Given the description of an element on the screen output the (x, y) to click on. 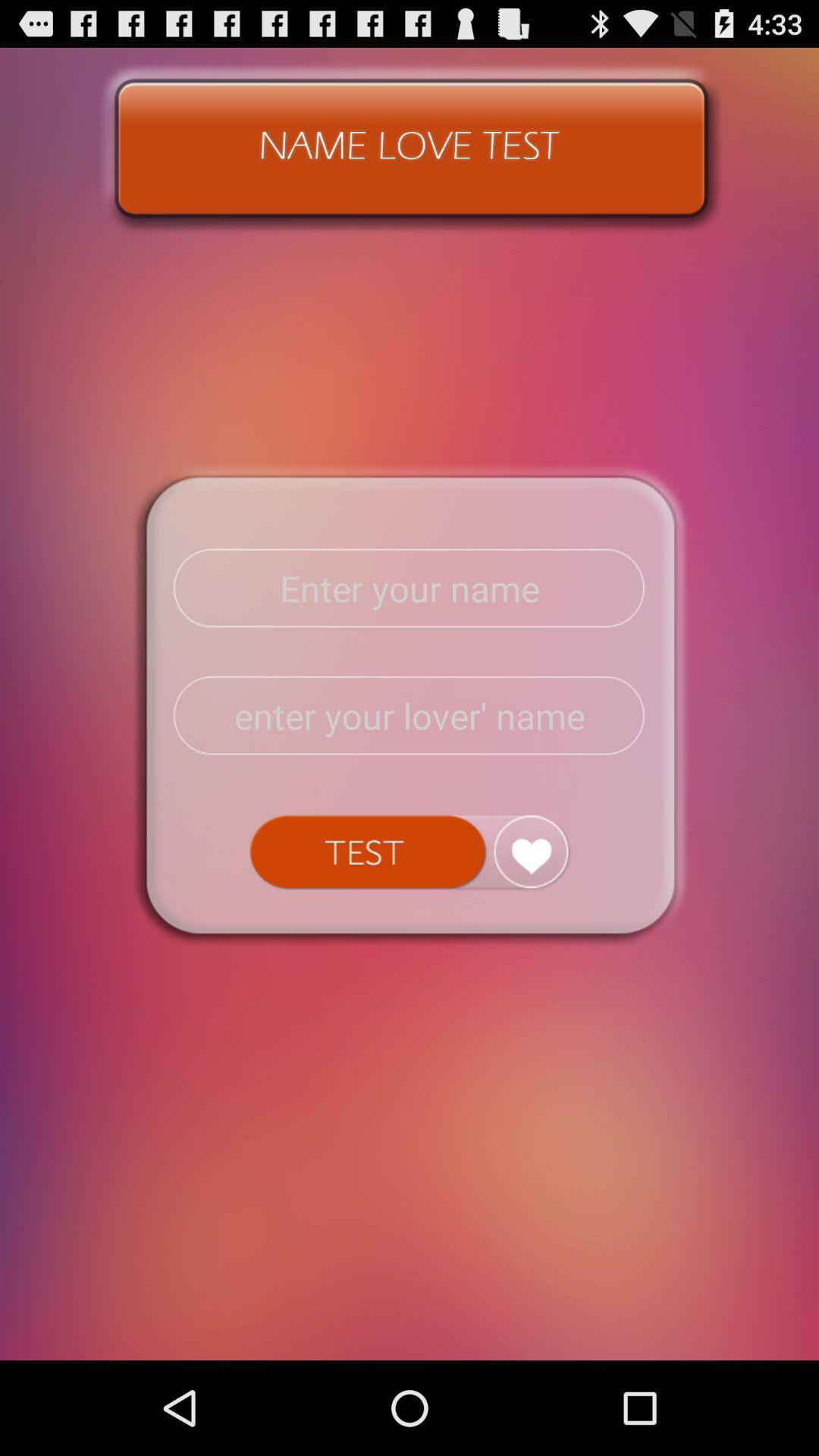
input name (409, 588)
